Given the description of an element on the screen output the (x, y) to click on. 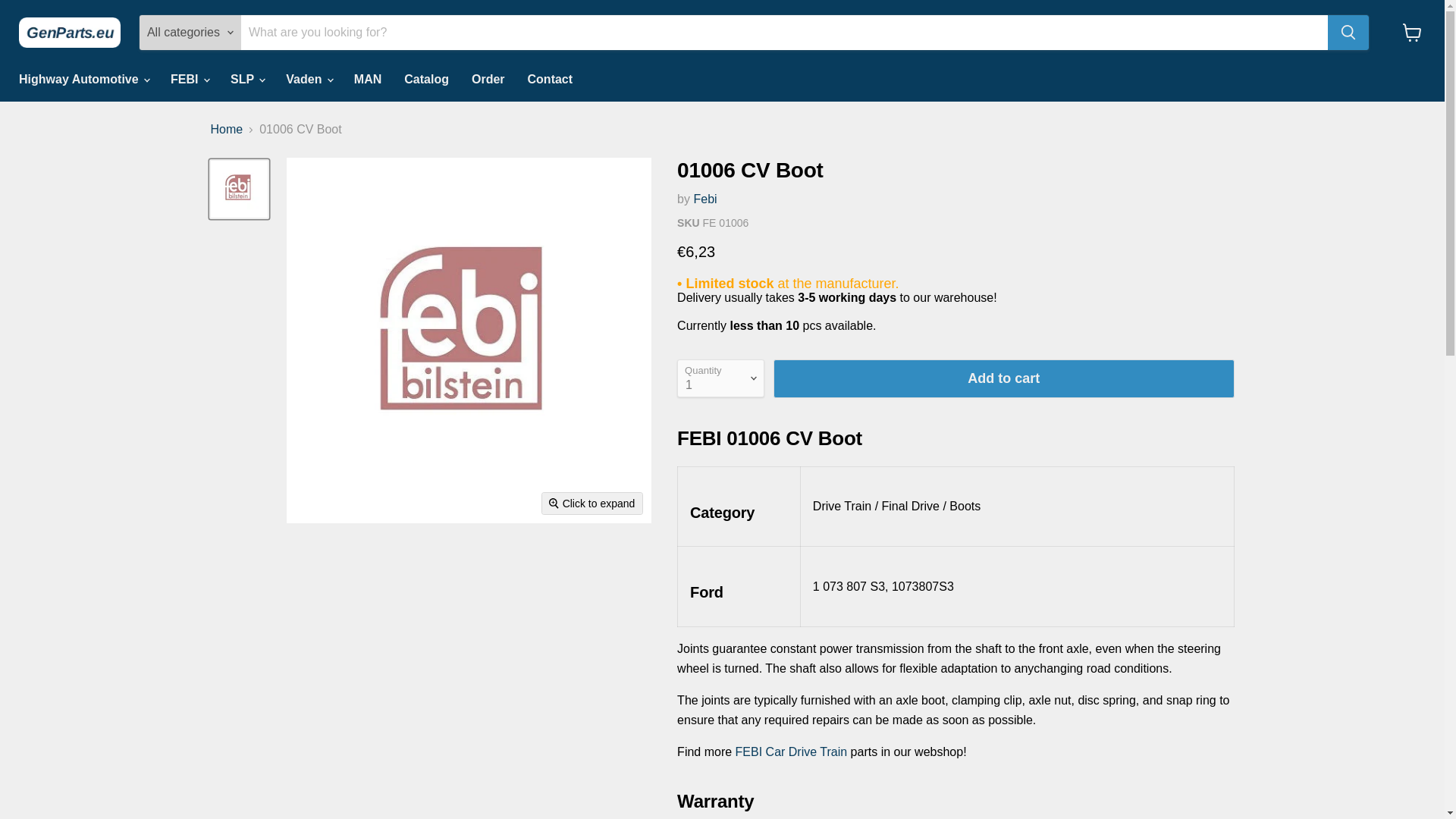
View cart (1411, 32)
FEBI Car Drive Train (791, 751)
Febi (704, 198)
